Given the description of an element on the screen output the (x, y) to click on. 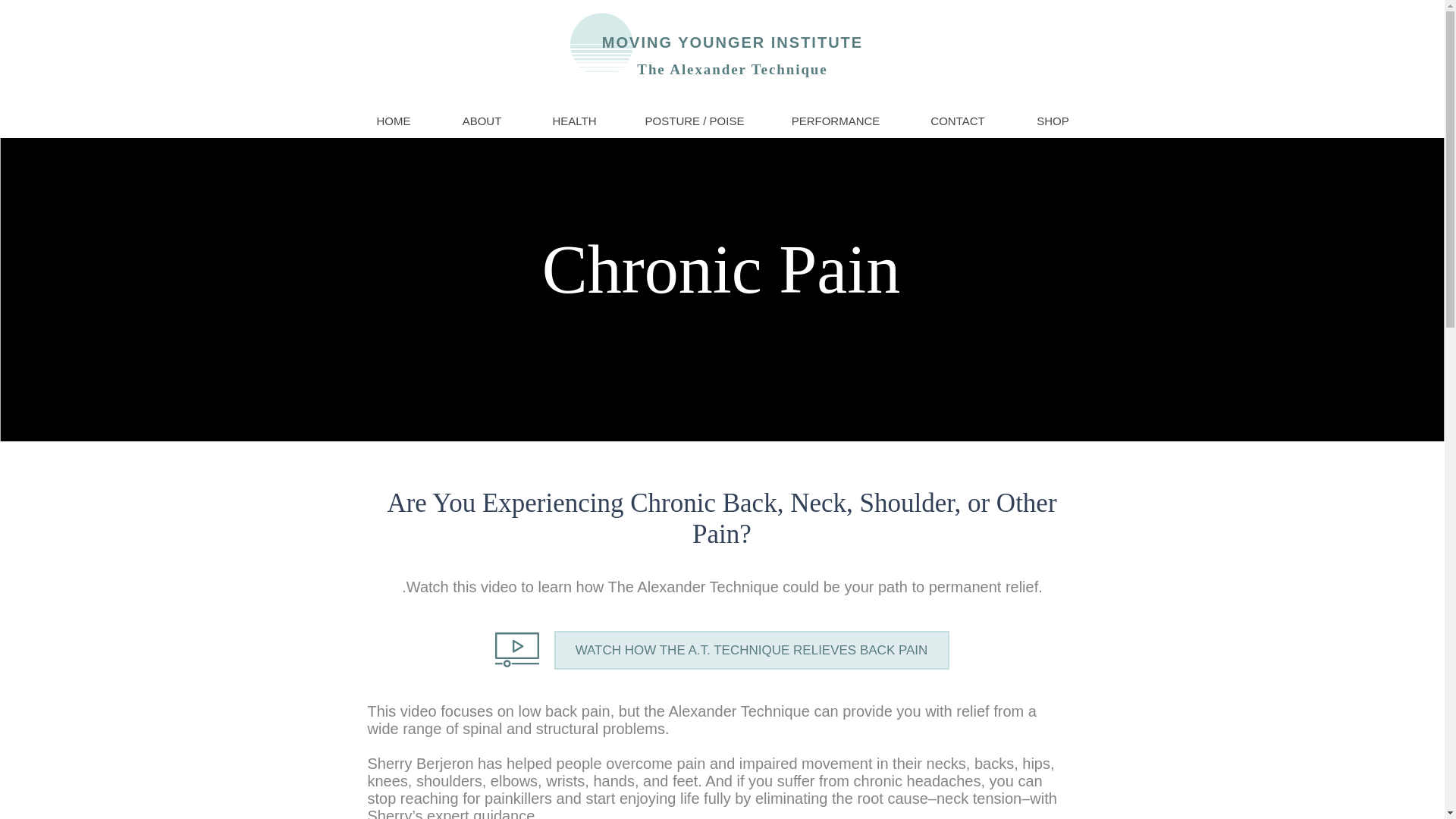
SHOP (1052, 120)
WATCH HOW THE A.T. TECHNIQUE RELIEVES BACK PAIN (751, 649)
HOME (392, 120)
CONTACT (957, 120)
